Given the description of an element on the screen output the (x, y) to click on. 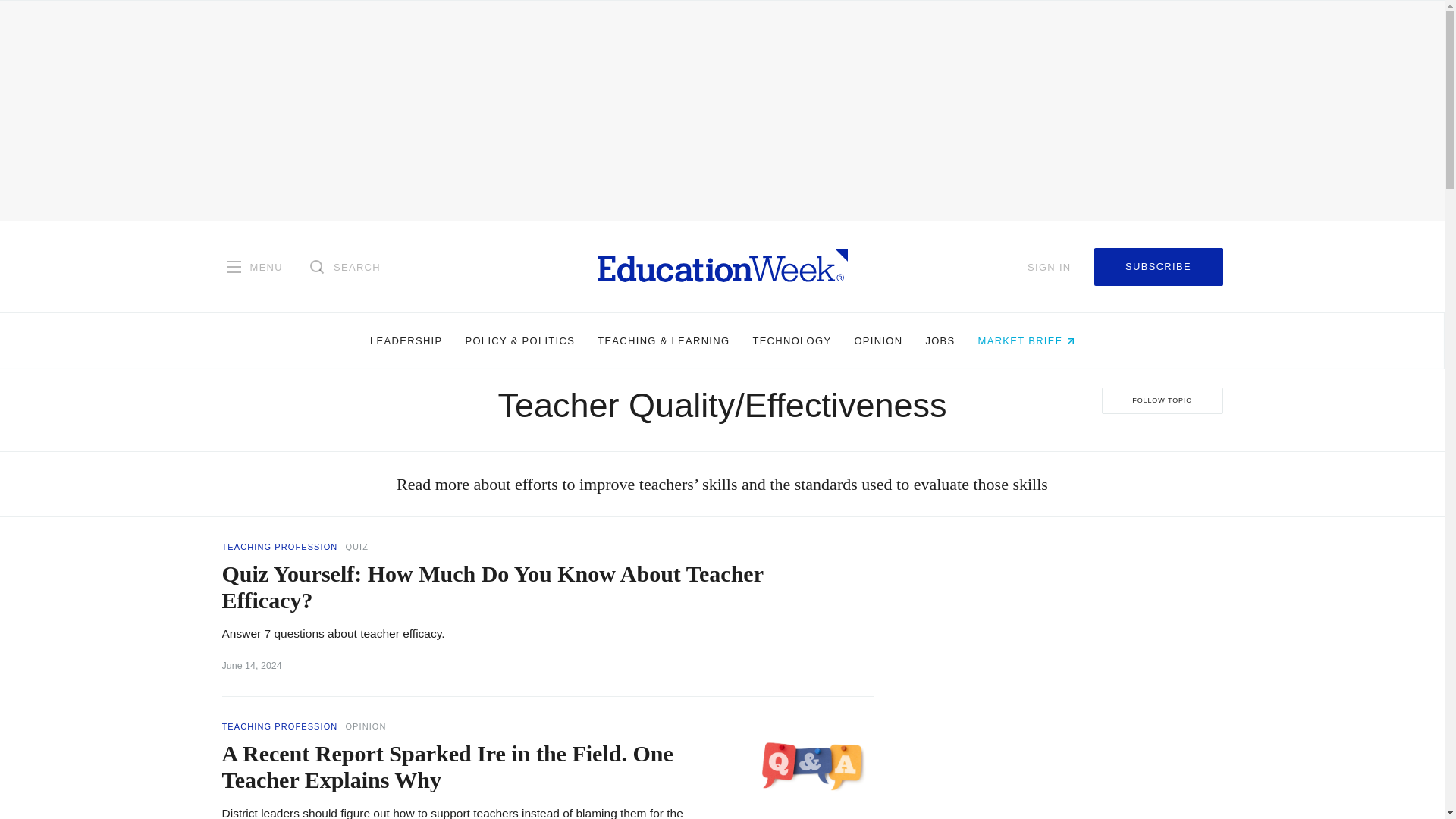
3rd party ad content (1070, 634)
Homepage (721, 266)
